Given the description of an element on the screen output the (x, y) to click on. 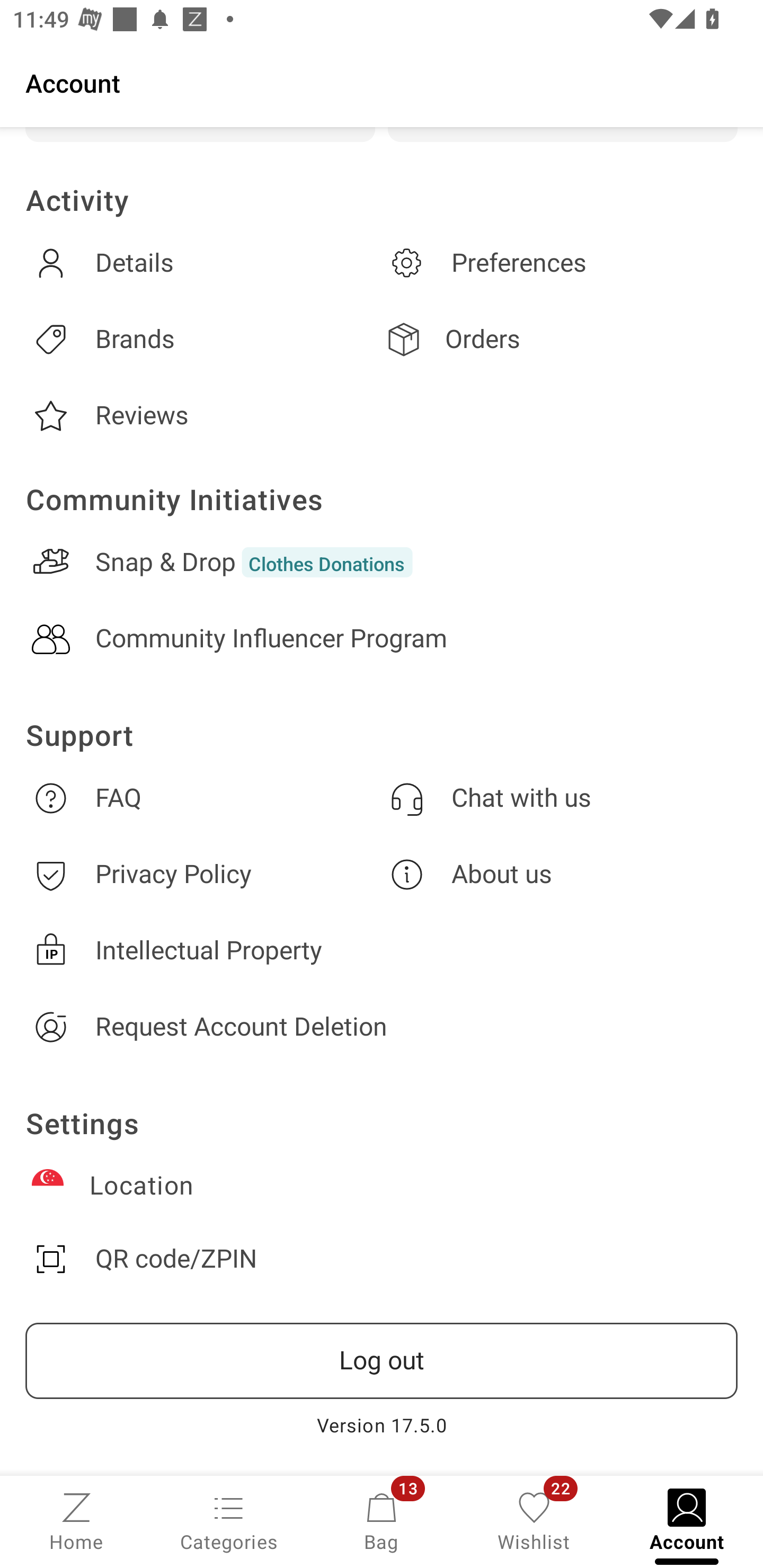
Account (381, 82)
Details (203, 263)
Preferences (559, 263)
Brands (203, 339)
Orders (559, 339)
Reviews (203, 415)
Snap & DropClothes Donations (381, 561)
Community Influencer Program (381, 638)
FAQ (203, 797)
Chat with us (559, 797)
Privacy Policy (203, 873)
About us (559, 873)
Intellectual Property (381, 950)
Request Account Deletion (381, 1026)
QR code/ZPIN (381, 1258)
Log out (381, 1360)
Home (76, 1519)
Categories (228, 1519)
Bag, 13 new notifications Bag (381, 1519)
Wishlist, 22 new notifications Wishlist (533, 1519)
